Given the description of an element on the screen output the (x, y) to click on. 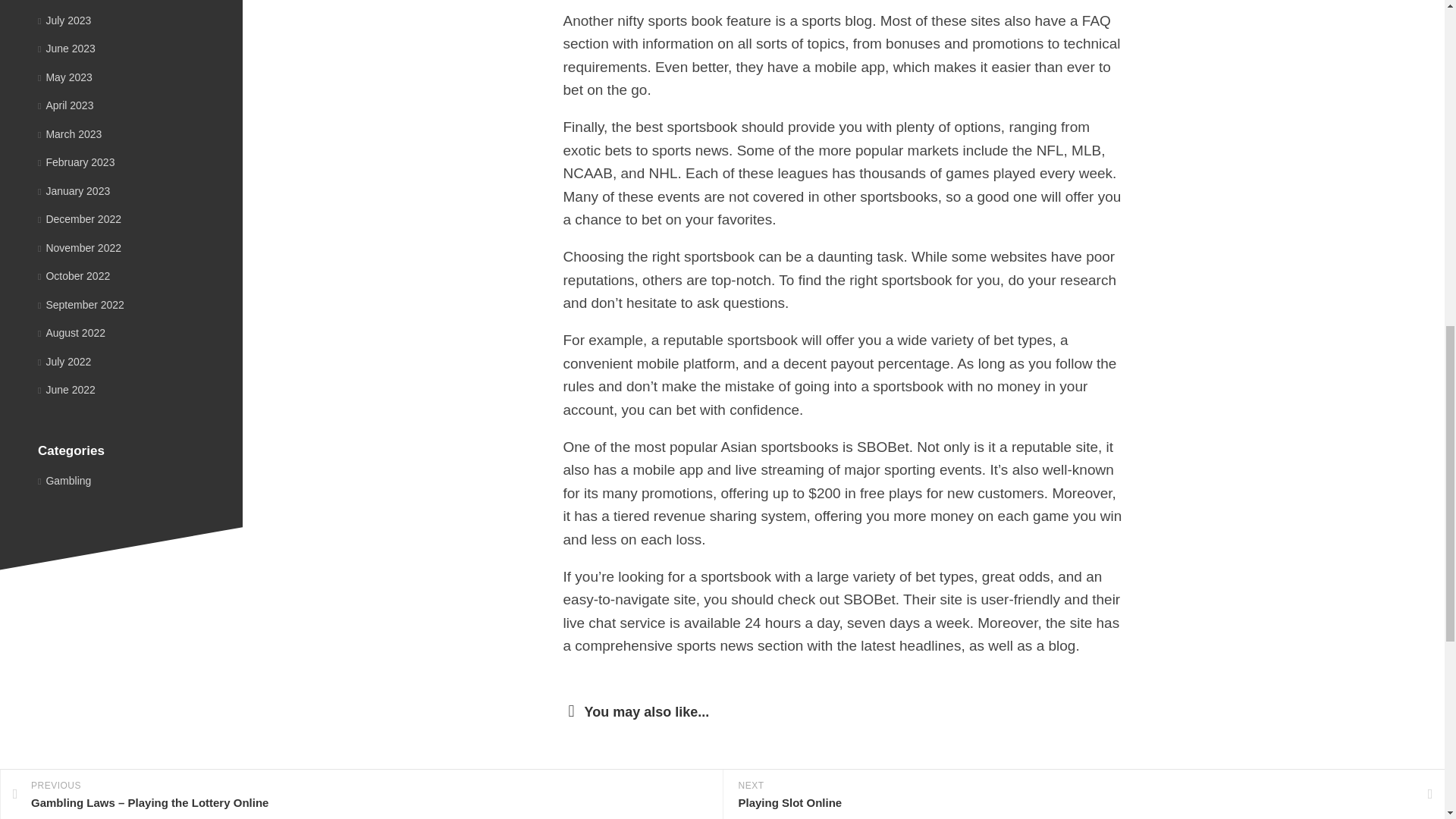
January 2023 (73, 191)
November 2022 (78, 246)
February 2023 (76, 162)
May 2023 (65, 77)
July 2023 (63, 19)
June 2023 (66, 48)
April 2023 (65, 105)
December 2022 (78, 218)
March 2023 (69, 133)
